Given the description of an element on the screen output the (x, y) to click on. 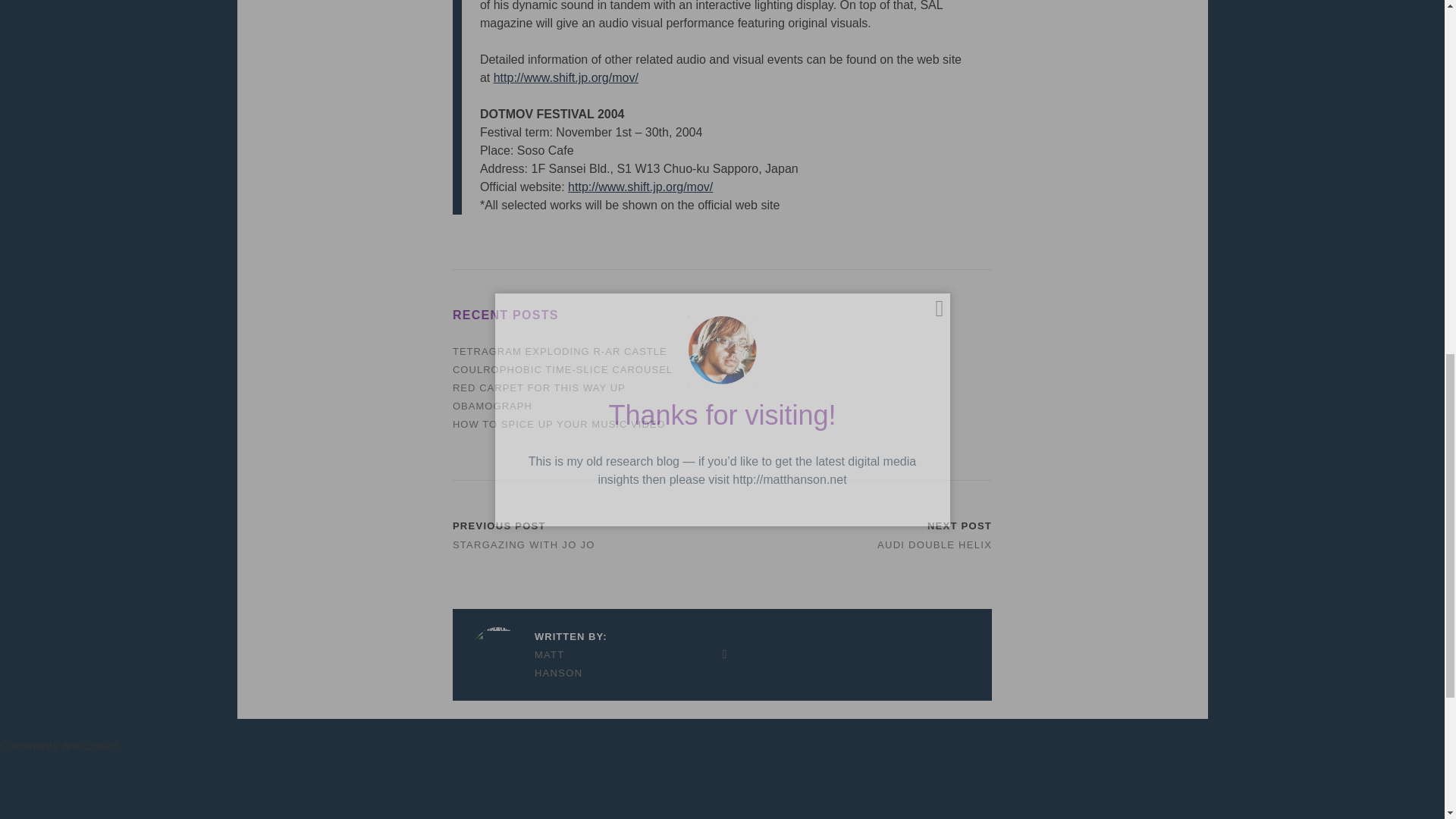
Posts by Matt Hanson (538, 664)
RED CARPET FOR THIS WAY UP (539, 387)
OBAMOGRAPH (492, 405)
AUDI DOUBLE HELIX (934, 544)
HOW TO SPICE UP YOUR MUSIC VIDEO (558, 423)
MATT HANSON (538, 664)
COULROPHOBIC TIME-SLICE CAROUSEL (562, 369)
STARGAZING WITH JO JO (523, 544)
TETRAGRAM EXPLODING R-AR CASTLE (559, 351)
